Given the description of an element on the screen output the (x, y) to click on. 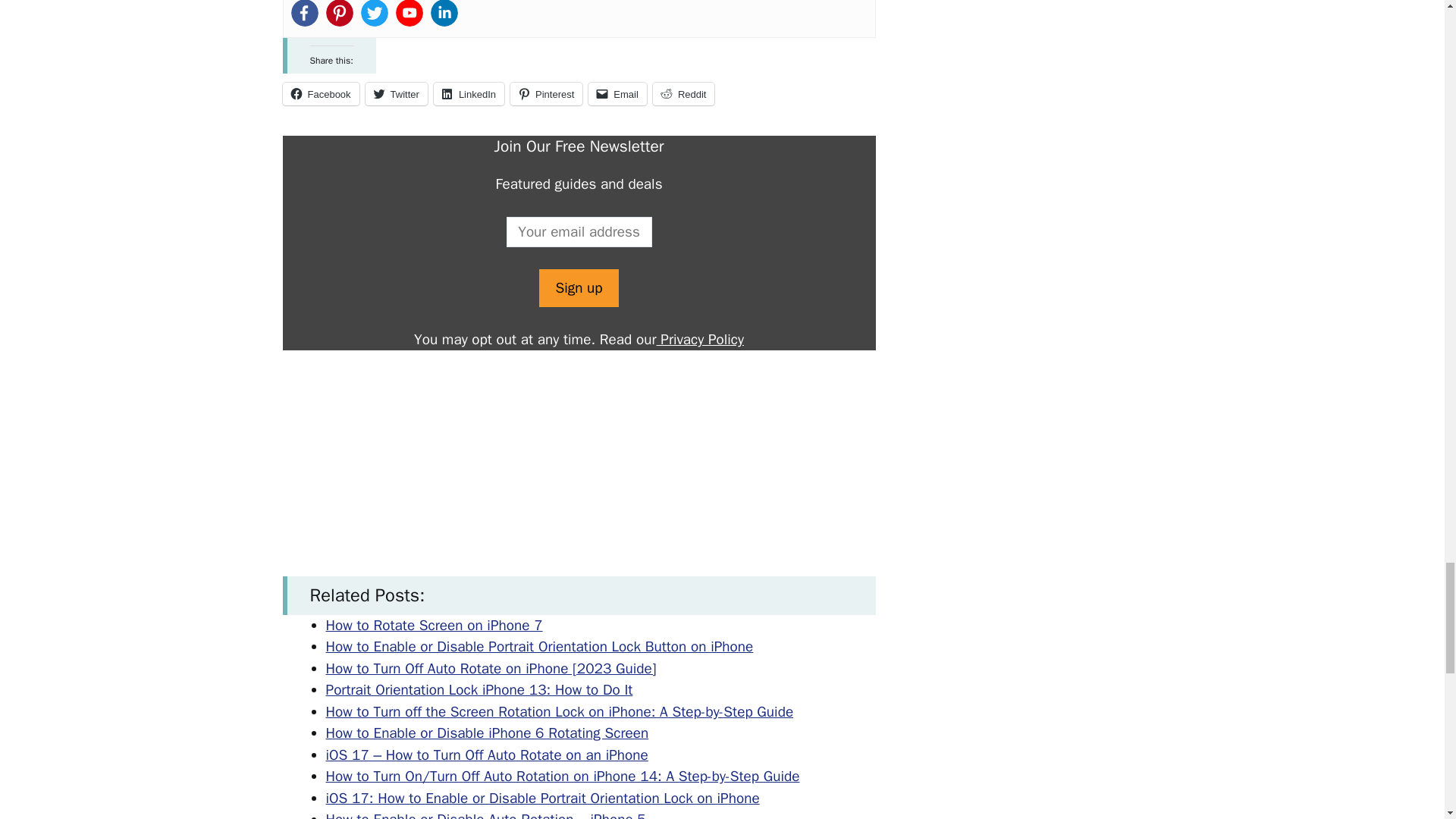
Sign up (577, 288)
Twitter (396, 93)
Portrait Orientation Lock iPhone 13: How to Do It (479, 689)
Pinterest (546, 93)
Privacy Policy (700, 339)
Email (617, 93)
Sign up (577, 288)
Facebook (320, 93)
How to Rotate Screen on iPhone 7 (434, 625)
How to Enable or Disable iPhone 6 Rotating Screen (487, 732)
LinkedIn (468, 93)
Reddit (683, 93)
